Given the description of an element on the screen output the (x, y) to click on. 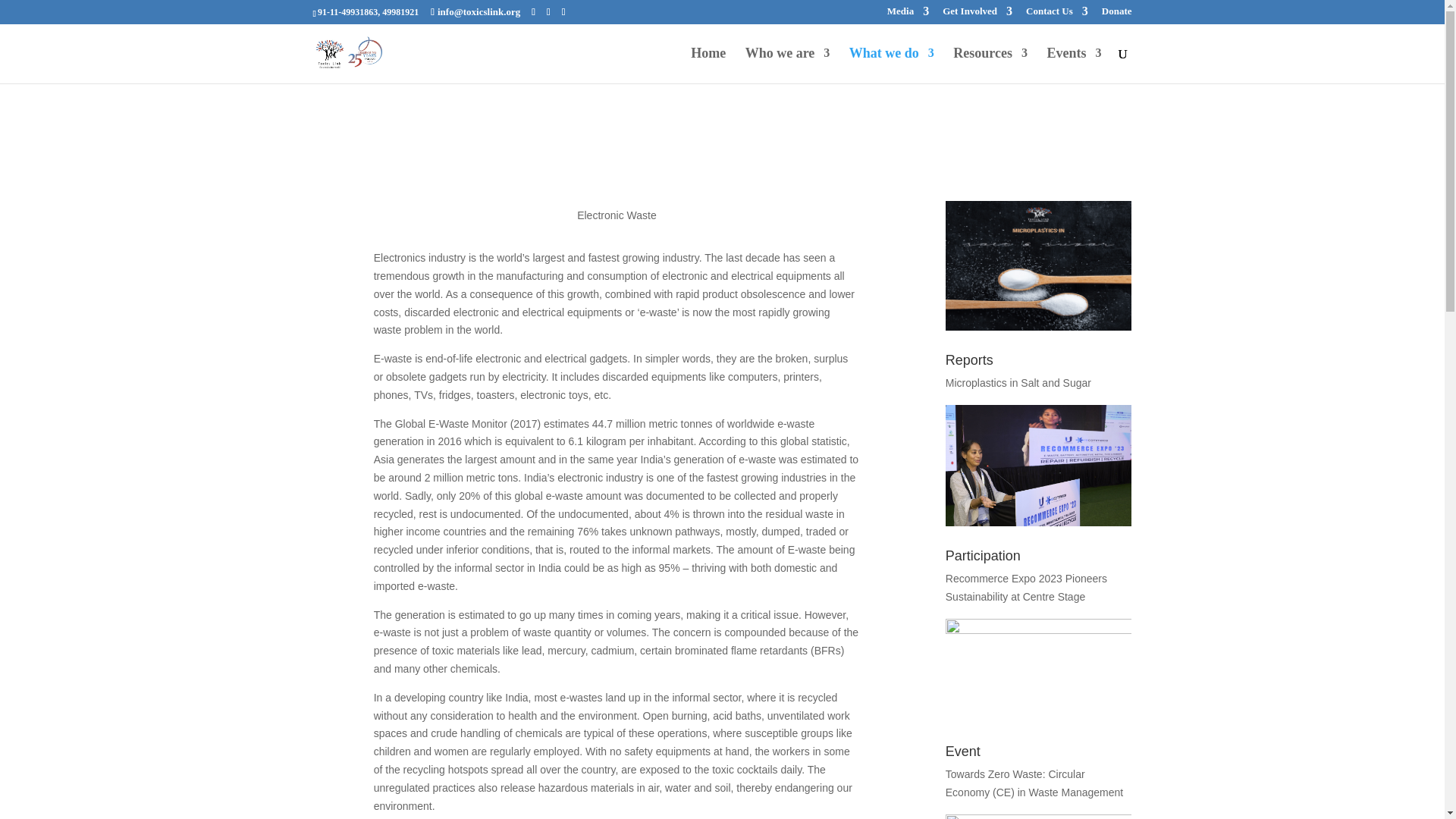
Get Involved (976, 14)
Contact Us (1056, 14)
Home (707, 65)
Who we are (787, 65)
Donate (1117, 14)
Media (907, 14)
What we do (891, 65)
